Given the description of an element on the screen output the (x, y) to click on. 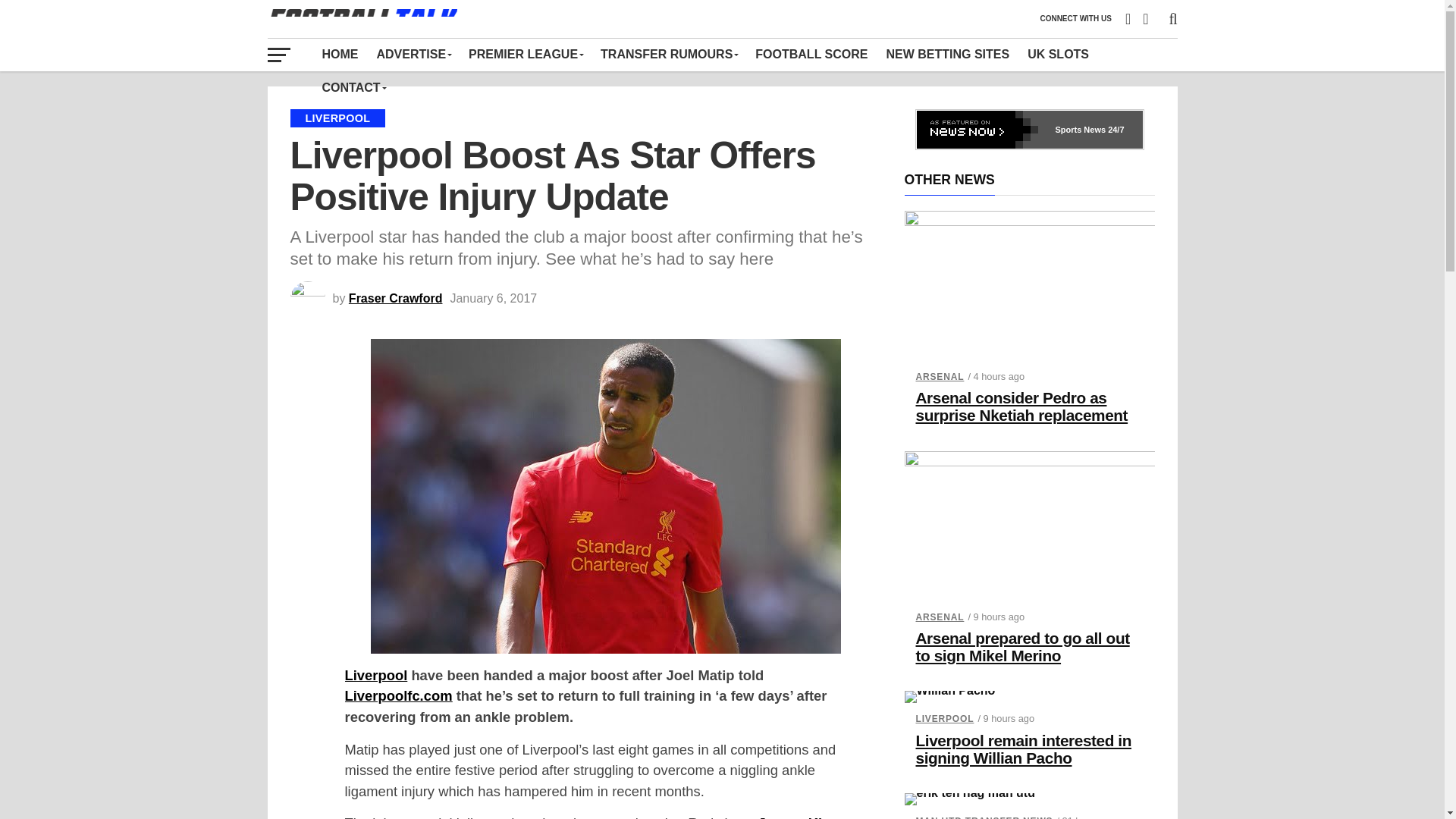
Advertise on Football-Talk (413, 54)
Premier League News (525, 54)
PREMIER LEAGUE (525, 54)
ADVERTISE (413, 54)
HOME (339, 54)
